Given the description of an element on the screen output the (x, y) to click on. 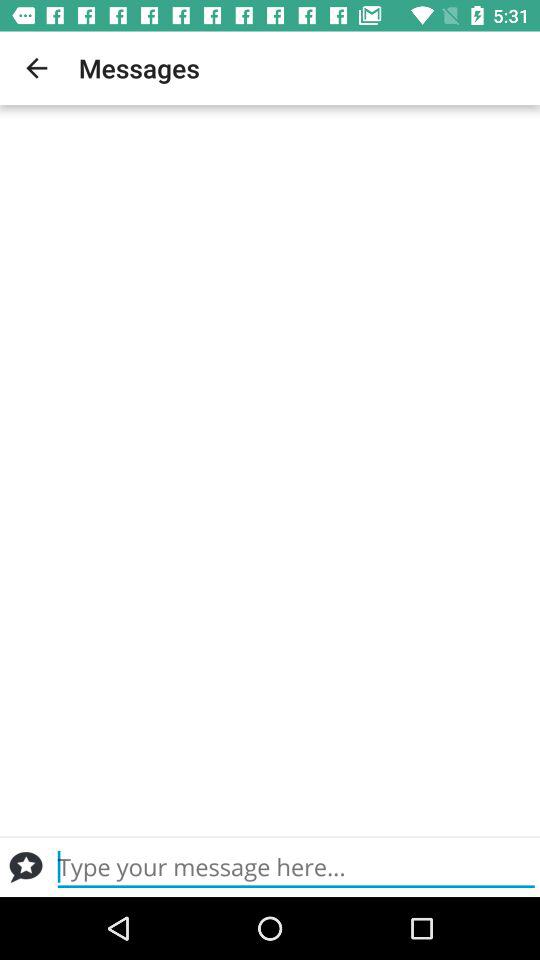
open icon at the center (270, 470)
